Given the description of an element on the screen output the (x, y) to click on. 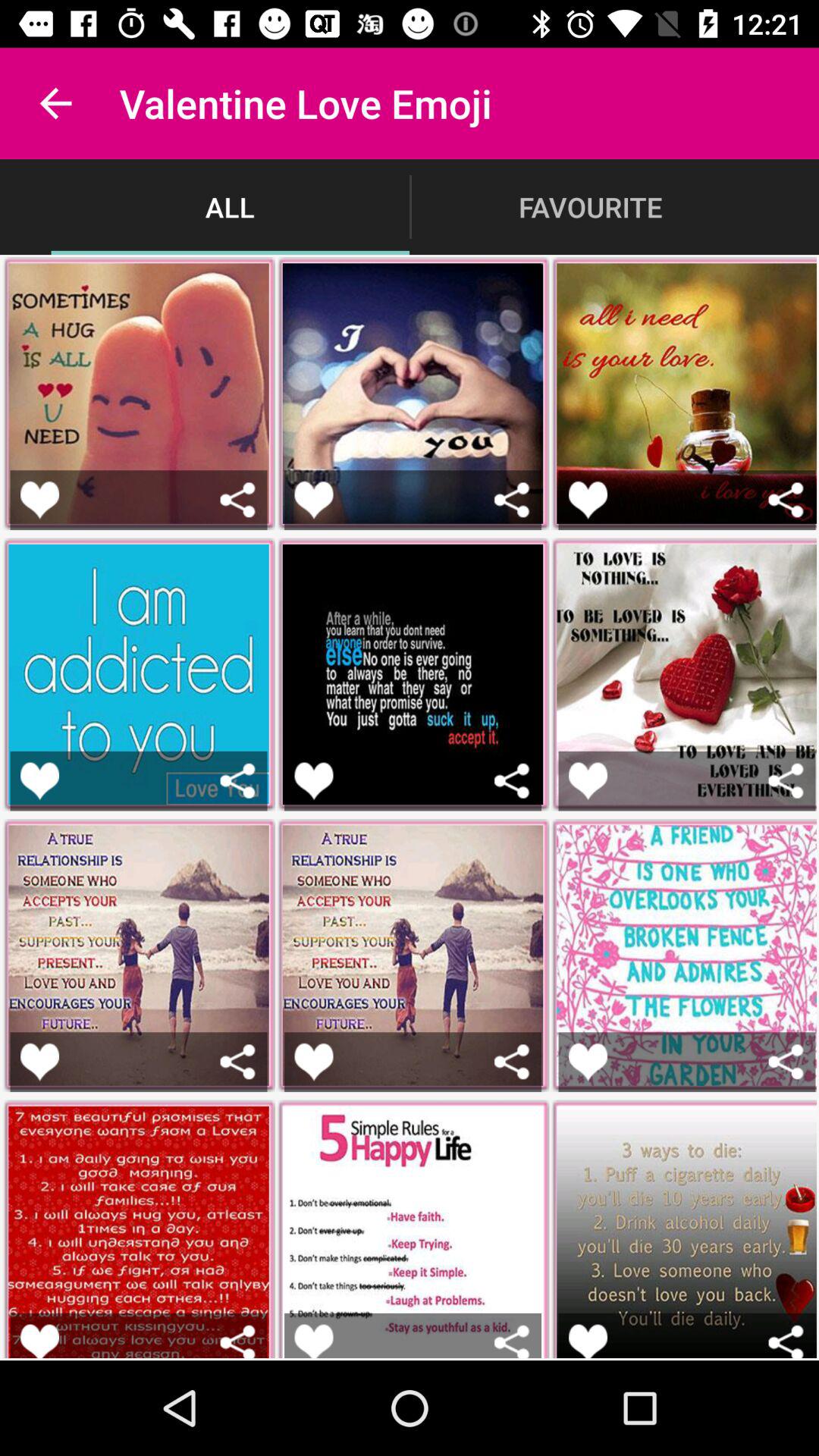
favorite button (39, 499)
